Given the description of an element on the screen output the (x, y) to click on. 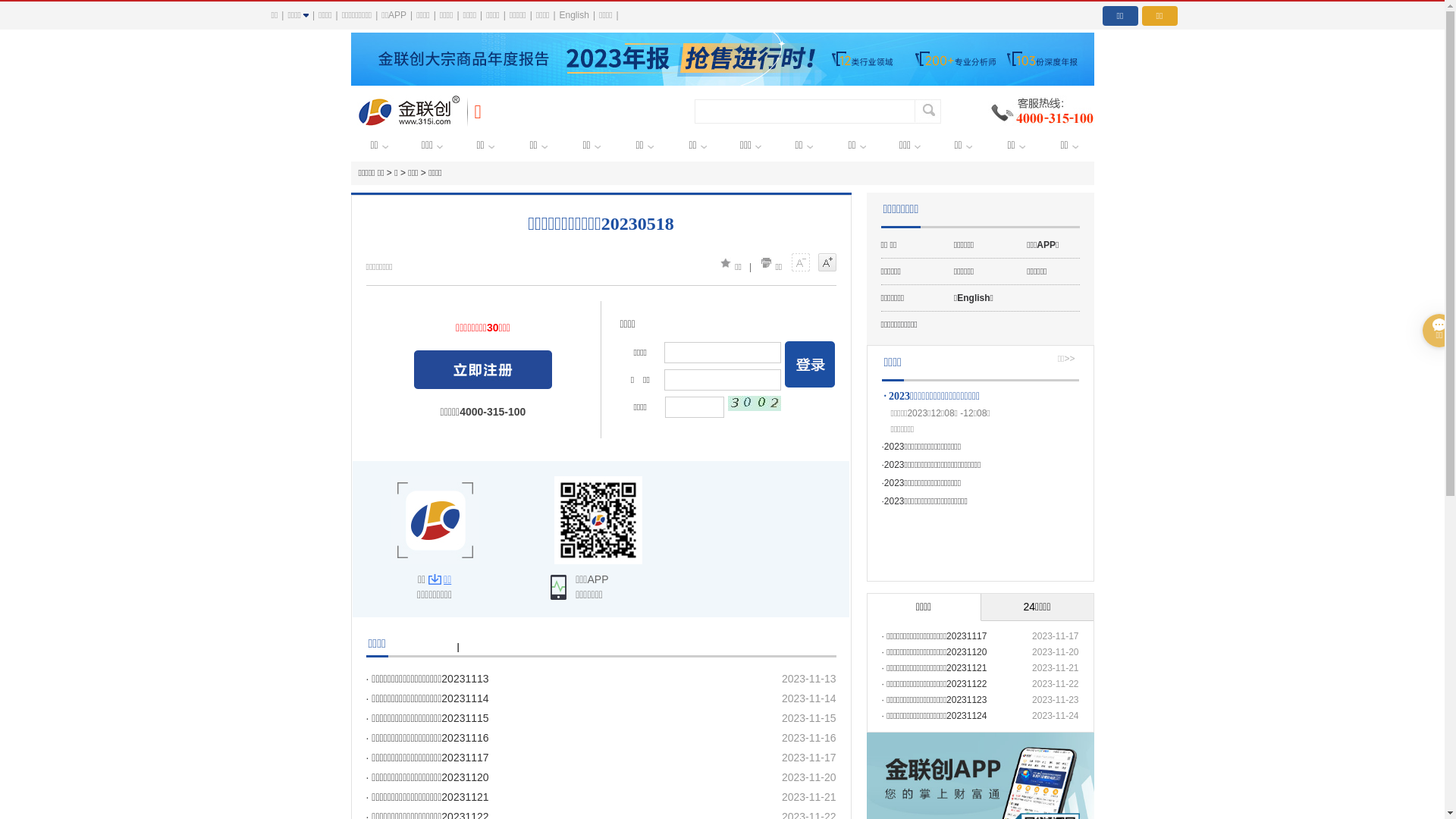
  Element type: text (483, 369)
English Element type: text (574, 14)
| Element type: text (457, 646)
